Given the description of an element on the screen output the (x, y) to click on. 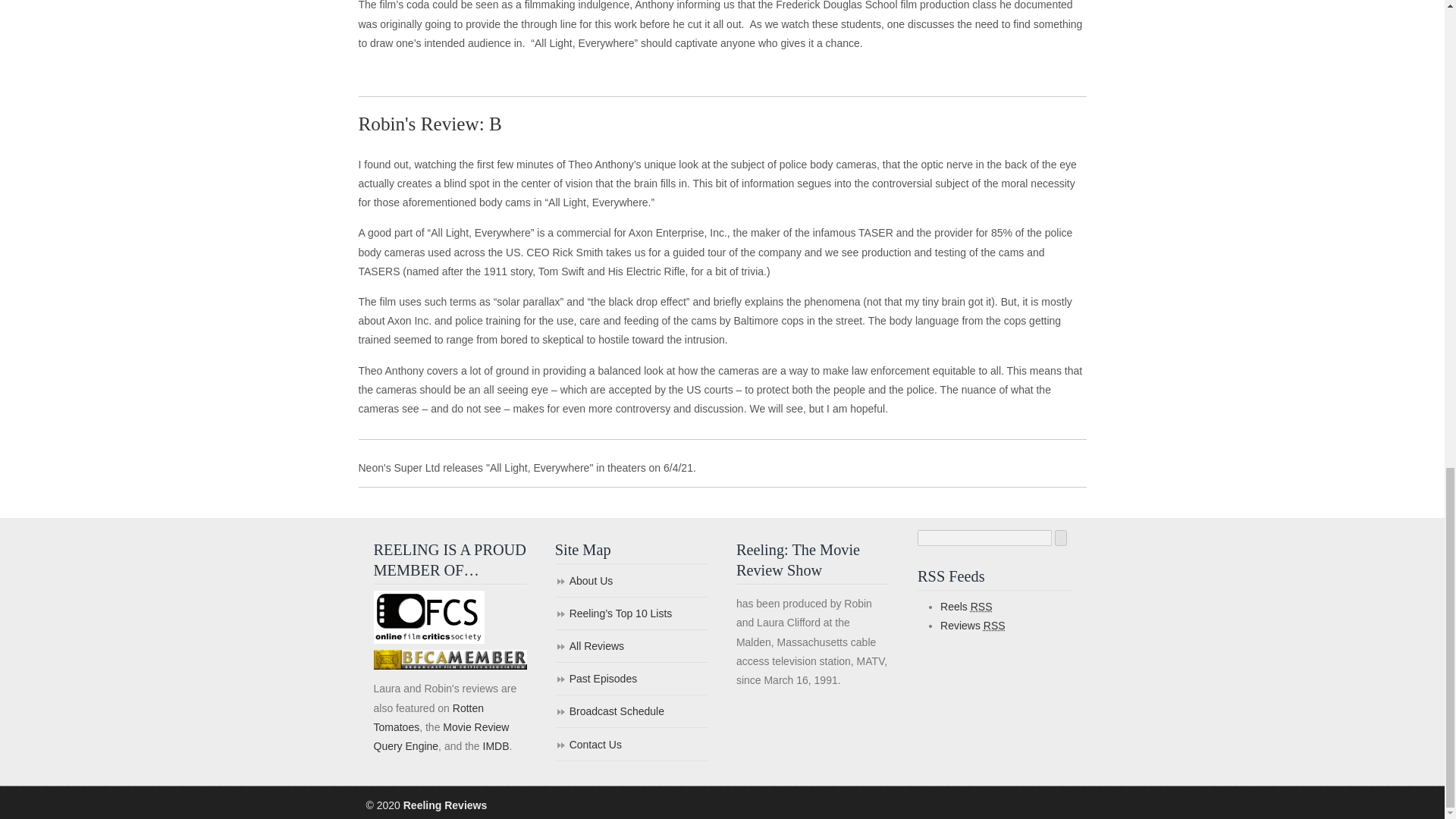
Contact Us (630, 745)
Really Simple Syndication (995, 625)
Reviews RSS (973, 625)
The latest Episodes in RSS (965, 606)
About Us (630, 581)
Really Simple Syndication (981, 606)
Broadcast Schedule (630, 712)
IMDB (494, 746)
Rotten Tomatoes (427, 717)
The latest Reviews in RSS (973, 625)
Movie Review Query Engine (440, 736)
Reels RSS (965, 606)
All Reviews (630, 646)
Past Episodes (630, 679)
